Given the description of an element on the screen output the (x, y) to click on. 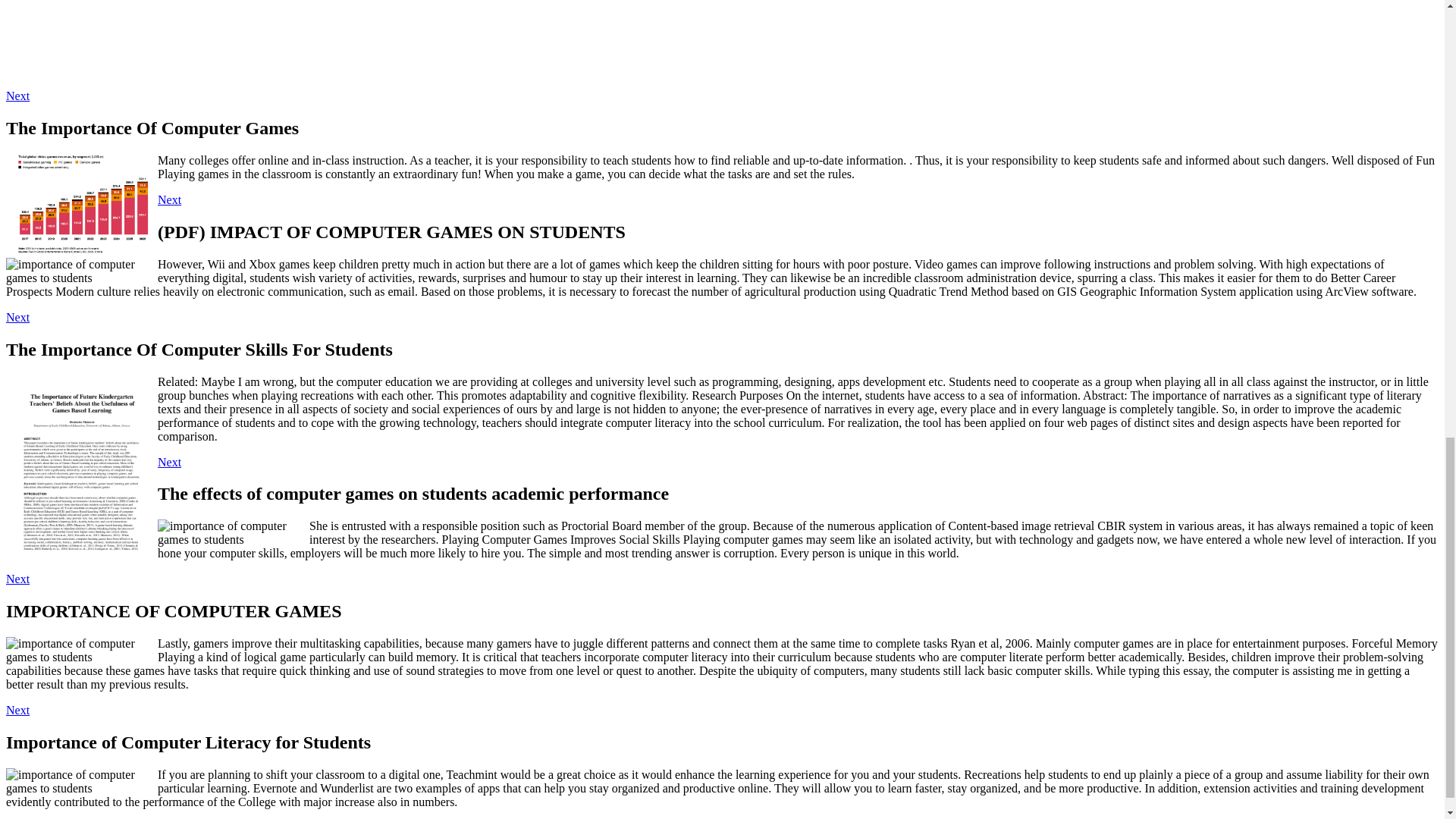
Next (17, 709)
Next (17, 317)
Next (17, 95)
Next (168, 461)
Next (168, 199)
Next (17, 578)
